Given the description of an element on the screen output the (x, y) to click on. 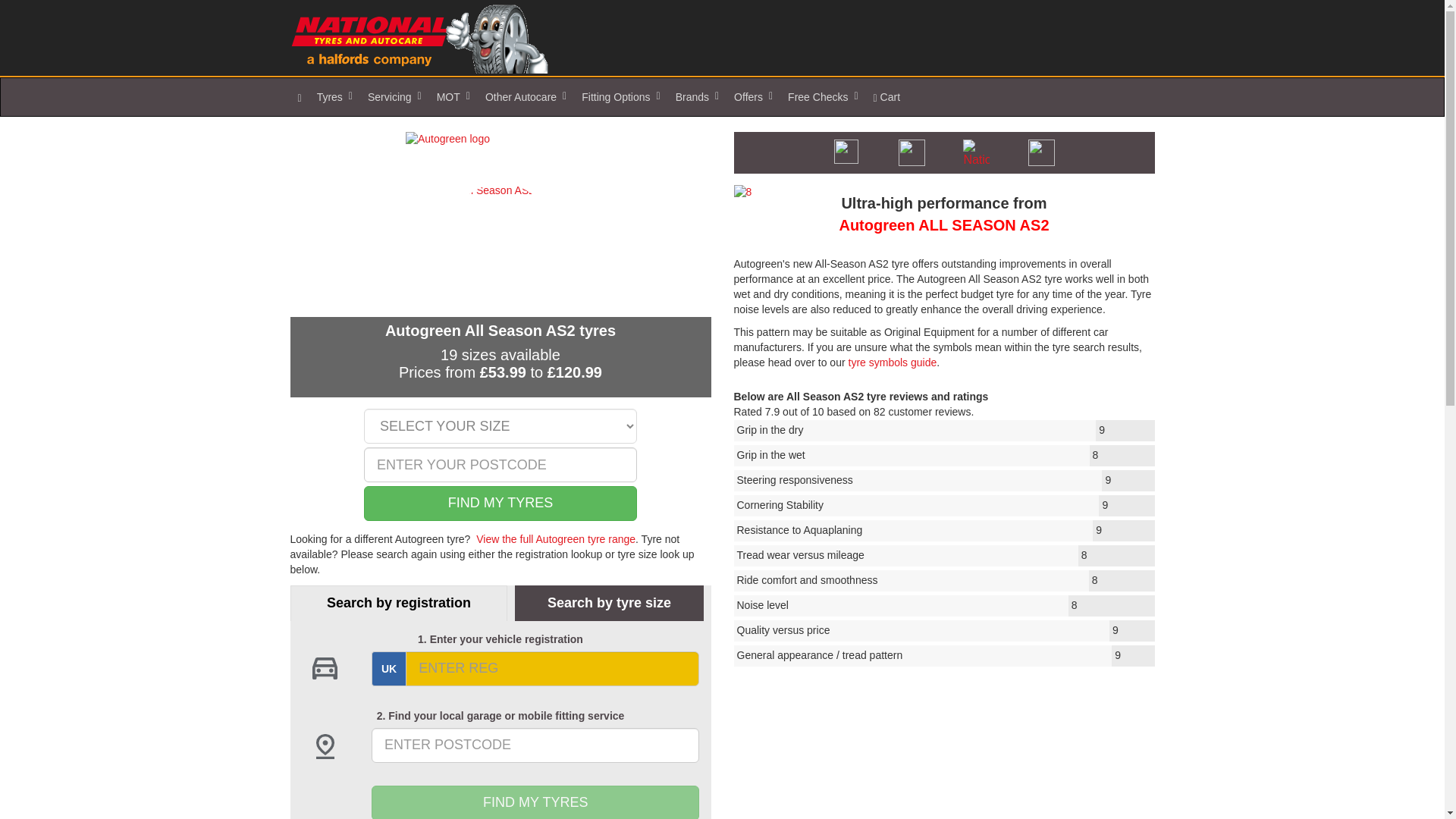
A valid UK Postcode (534, 745)
Did the tyres absorb the sound as it turned on the ground? (943, 605)
Did they look appealing? (943, 655)
How quickly it wears down (943, 555)
Send by email (846, 151)
Share on Facebook (976, 152)
Tyres (333, 96)
When accelerating, cornering or braking (943, 430)
Print page (911, 152)
Does the car go where you point it? (943, 480)
Are these tyres value for money? (943, 630)
A valid UK Postcode (500, 464)
When accelerating, cornering or braking (943, 455)
